Given the description of an element on the screen output the (x, y) to click on. 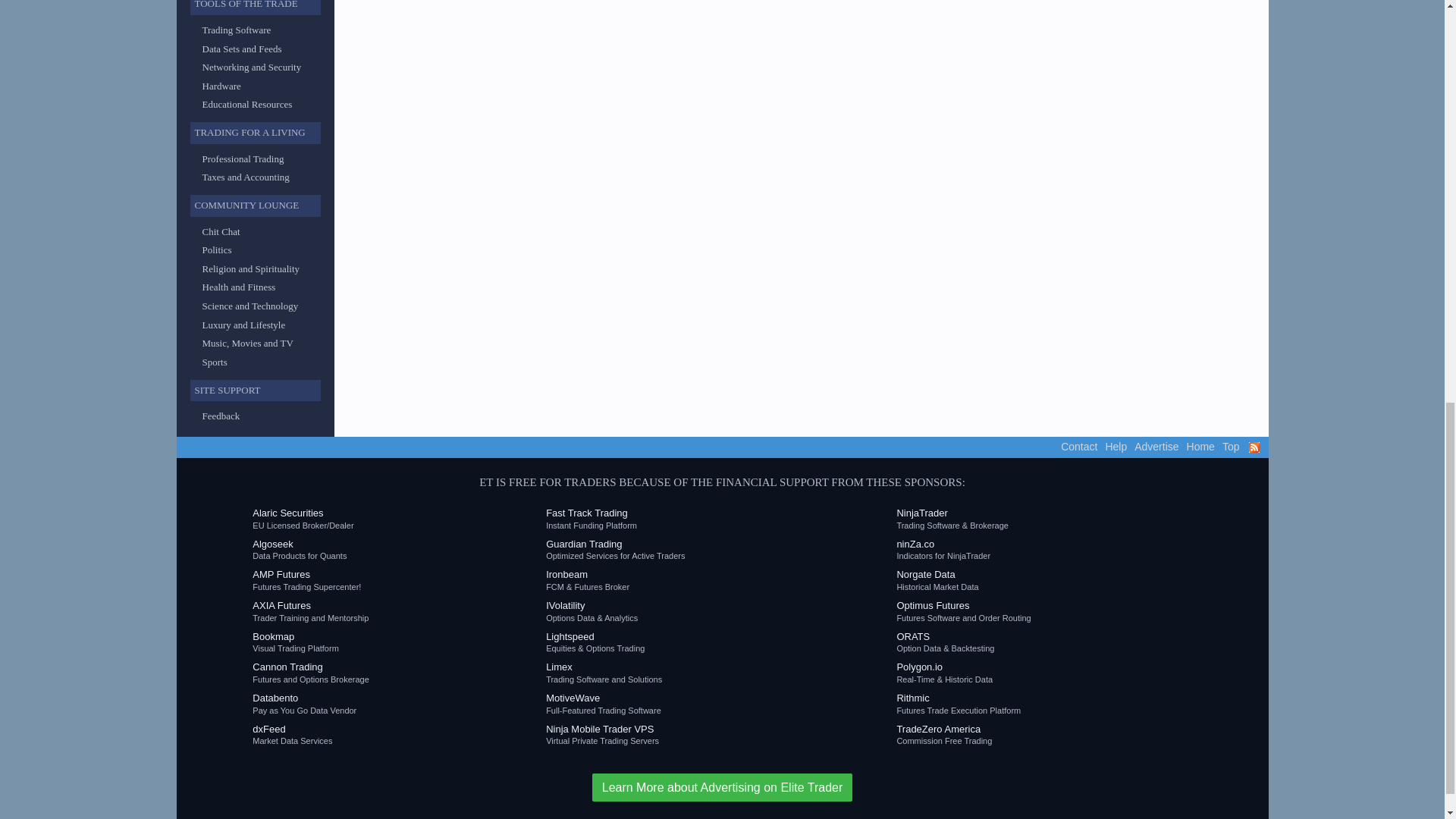
Hardware (221, 85)
Religion and Spirituality (250, 268)
Taxes and Accounting (245, 176)
Data Sets and Feeds (241, 48)
Chit Chat (221, 231)
RSS feed for Elite Trader (1253, 447)
Educational Resources (247, 103)
Professional Trading (242, 158)
Trading Software (236, 30)
Politics (216, 249)
